Given the description of an element on the screen output the (x, y) to click on. 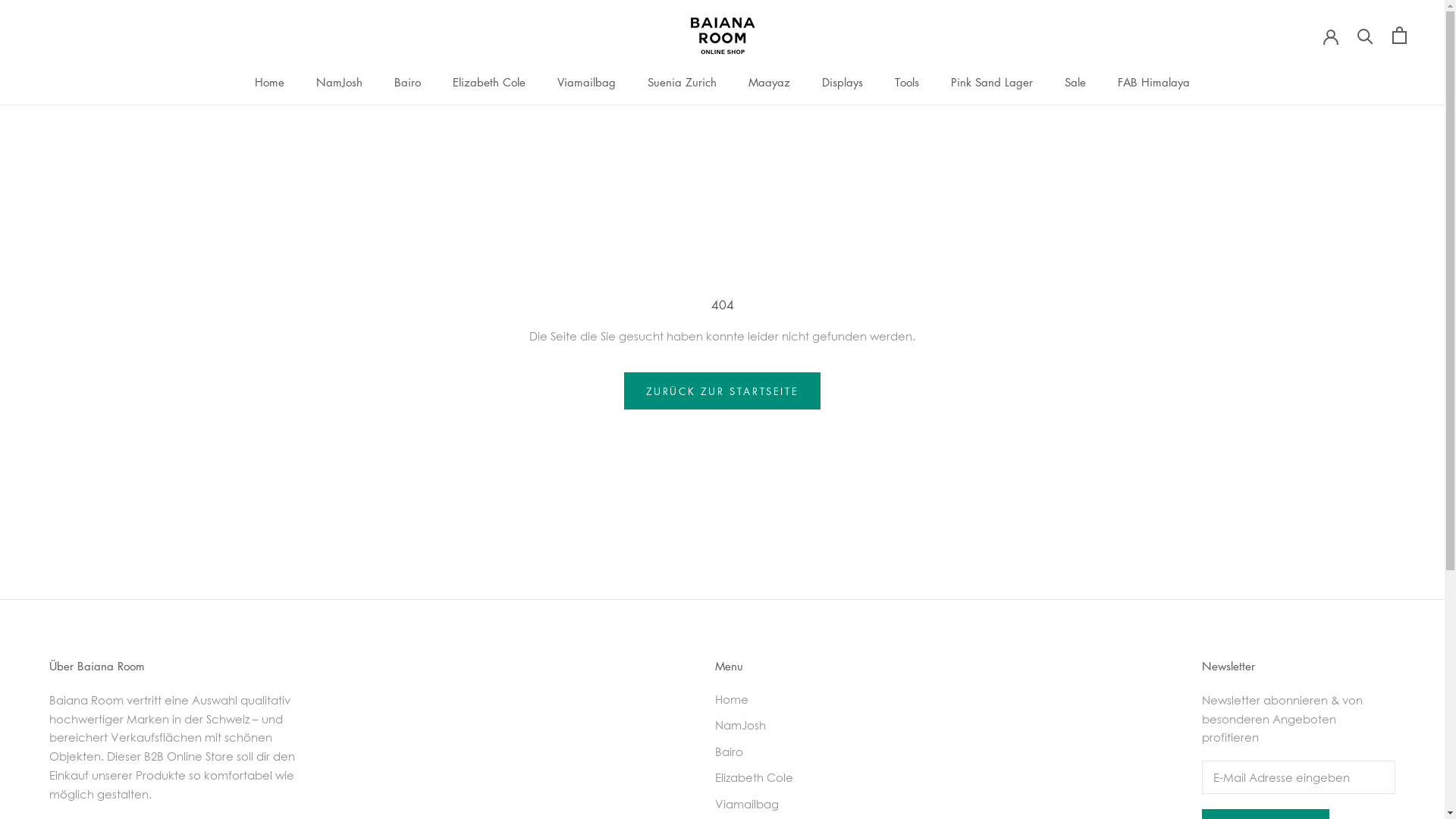
Bairo Element type: text (757, 751)
Bairo
Bairo Element type: text (407, 81)
Elizabeth Cole Element type: text (757, 777)
Home Element type: text (757, 699)
Sale
Sale Element type: text (1074, 81)
Home
Home Element type: text (269, 81)
Viamailbag Element type: text (757, 803)
Pink Sand Lager
Pink Sand Lager Element type: text (991, 81)
FAB Himalaya
FAB Himalaya Element type: text (1153, 81)
NamJosh Element type: text (757, 725)
NamJosh
NamJosh Element type: text (339, 81)
Elizabeth Cole
Elizabeth Cole Element type: text (488, 81)
Viamailbag
Viamailbag Element type: text (586, 81)
Displays
Displays Element type: text (842, 81)
Maayaz
Maayaz Element type: text (769, 81)
Tools
Tools Element type: text (906, 81)
Suenia Zurich
Suenia Zurich Element type: text (681, 81)
